Given the description of an element on the screen output the (x, y) to click on. 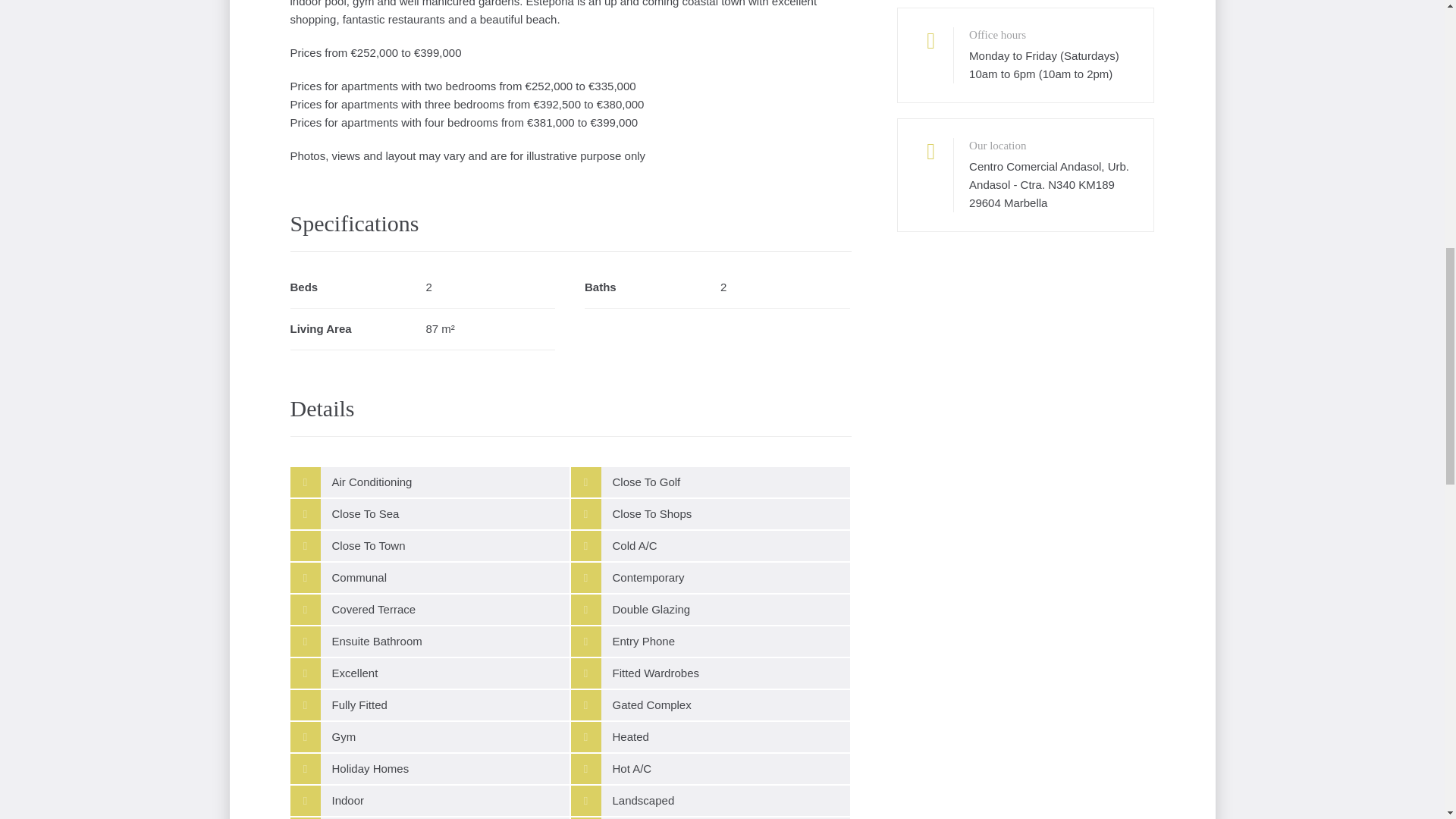
Close To Town (429, 545)
Close To Golf (709, 481)
Close To Shops (709, 513)
Baths (717, 287)
Air Conditioning (429, 481)
Close To Sea (429, 513)
Beds (421, 287)
Living Area (421, 329)
